Given the description of an element on the screen output the (x, y) to click on. 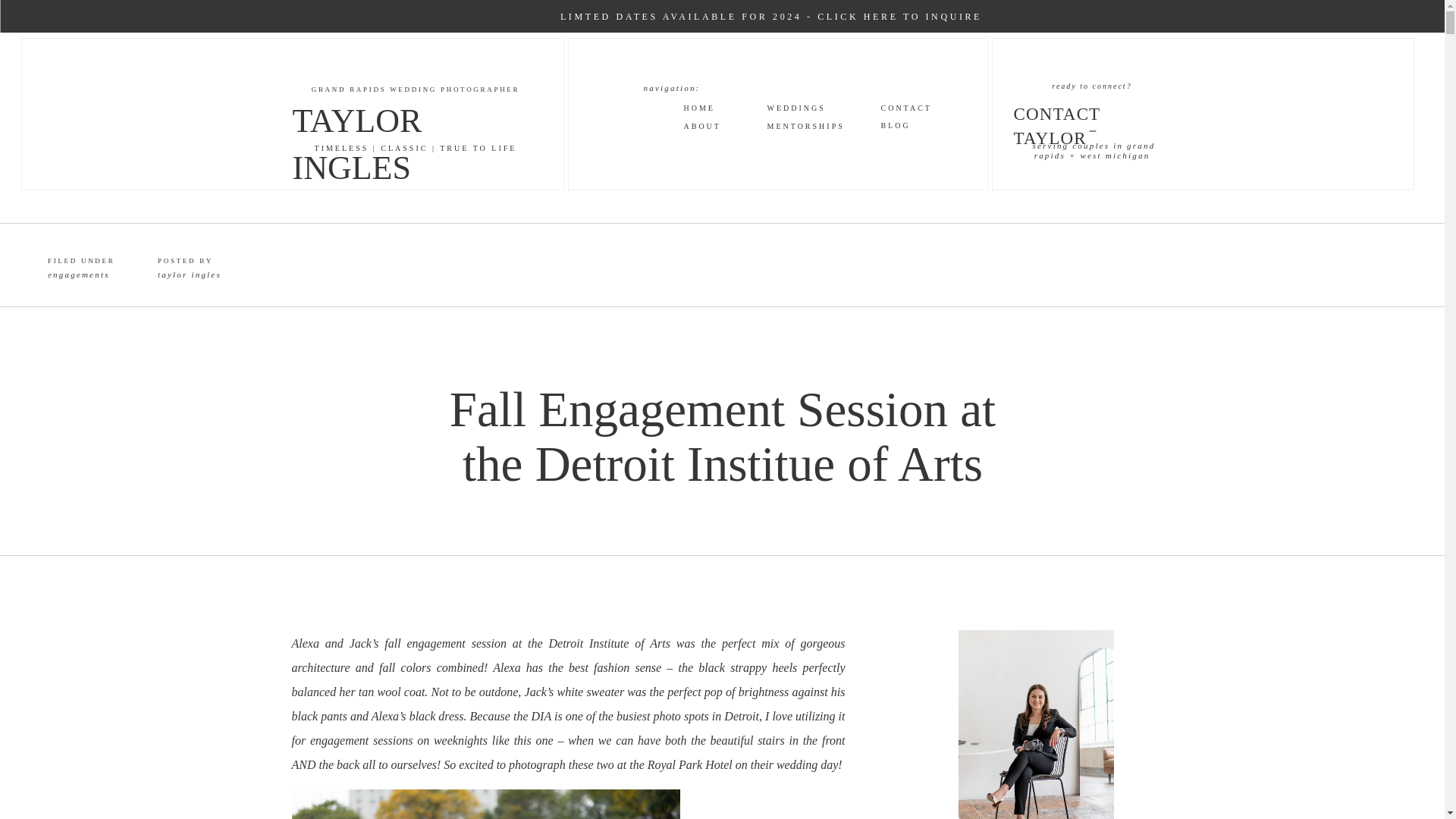
engagements (79, 274)
TAYLOR INGLES  (421, 114)
LIMTED DATES AVAILABLE FOR 2024 - CLICK HERE TO INQUIRE (771, 15)
HOME (723, 108)
CONTACT (914, 108)
GRAND RAPIDS WEDDING PHOTOGRAPHER (414, 90)
WEDDINGS (806, 108)
MENTORSHIPS (801, 126)
ABOUT (723, 126)
CONTACT TAYLOR (1090, 112)
